Given the description of an element on the screen output the (x, y) to click on. 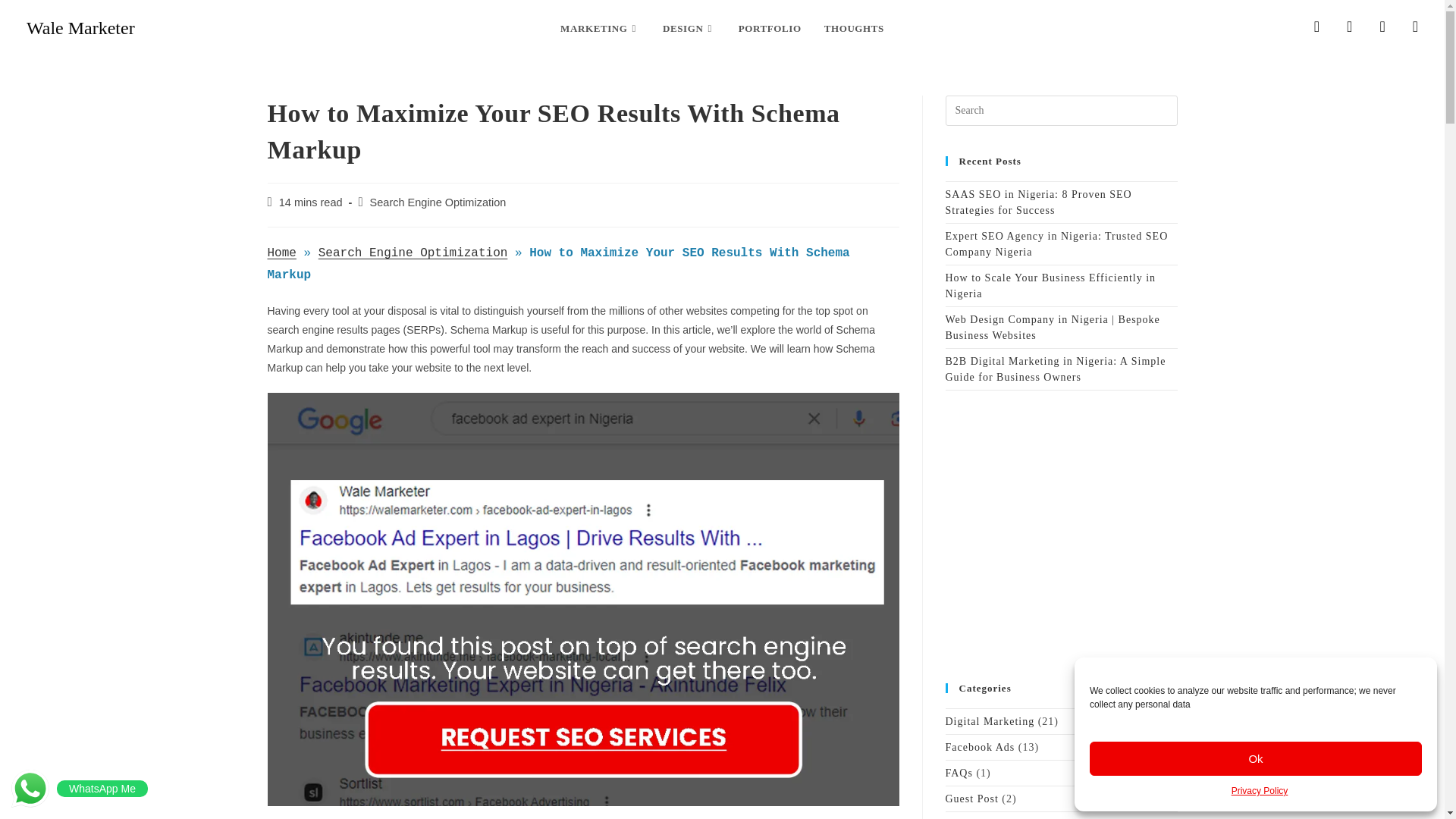
MARKETING (599, 28)
Ok (1255, 758)
PORTFOLIO (769, 28)
Wale Marketer (80, 27)
Privacy Policy (1259, 791)
DESIGN (688, 28)
THOUGHTS (853, 28)
